Given the description of an element on the screen output the (x, y) to click on. 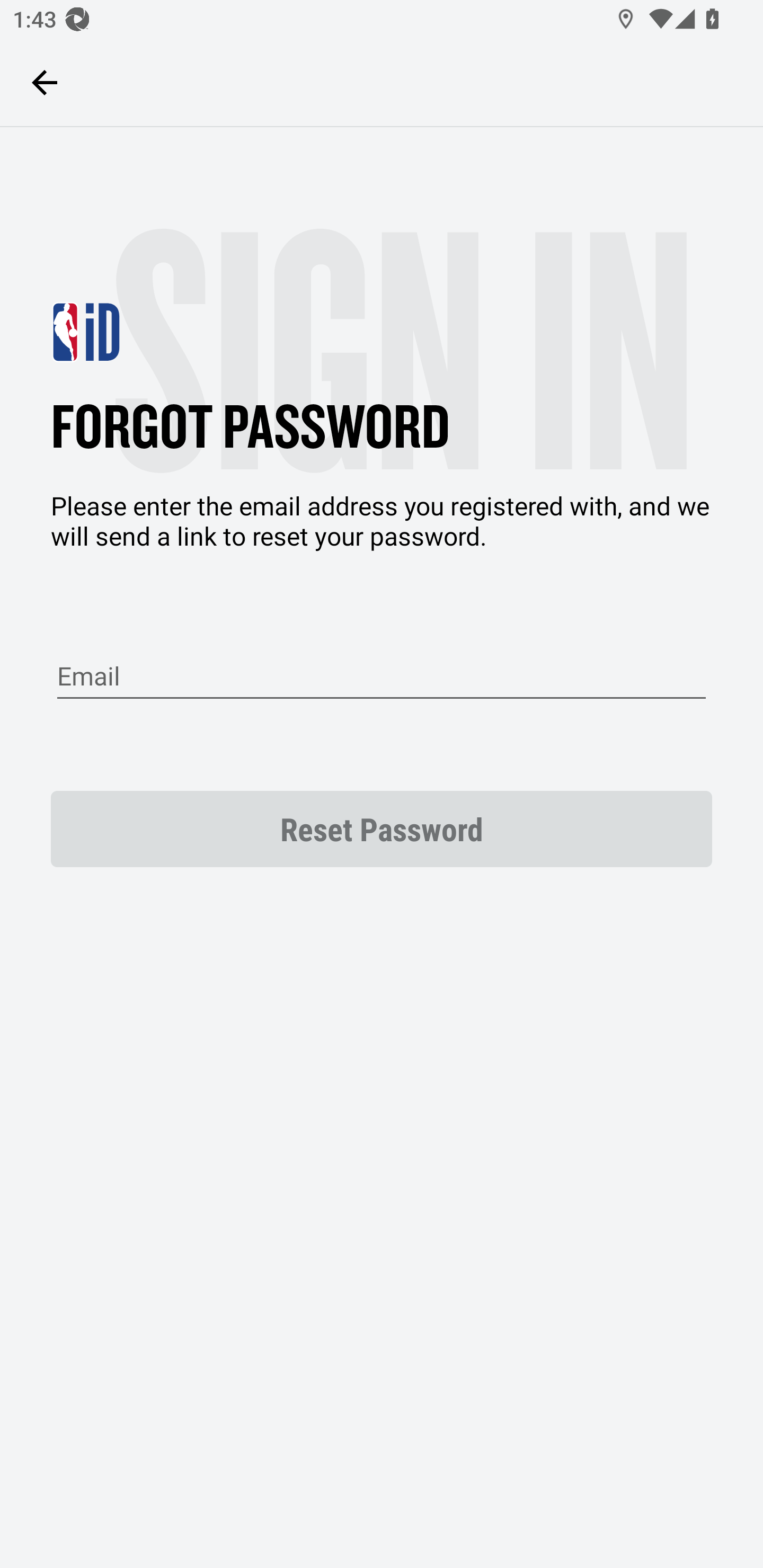
Email (381, 676)
Reset Password (381, 828)
